Given the description of an element on the screen output the (x, y) to click on. 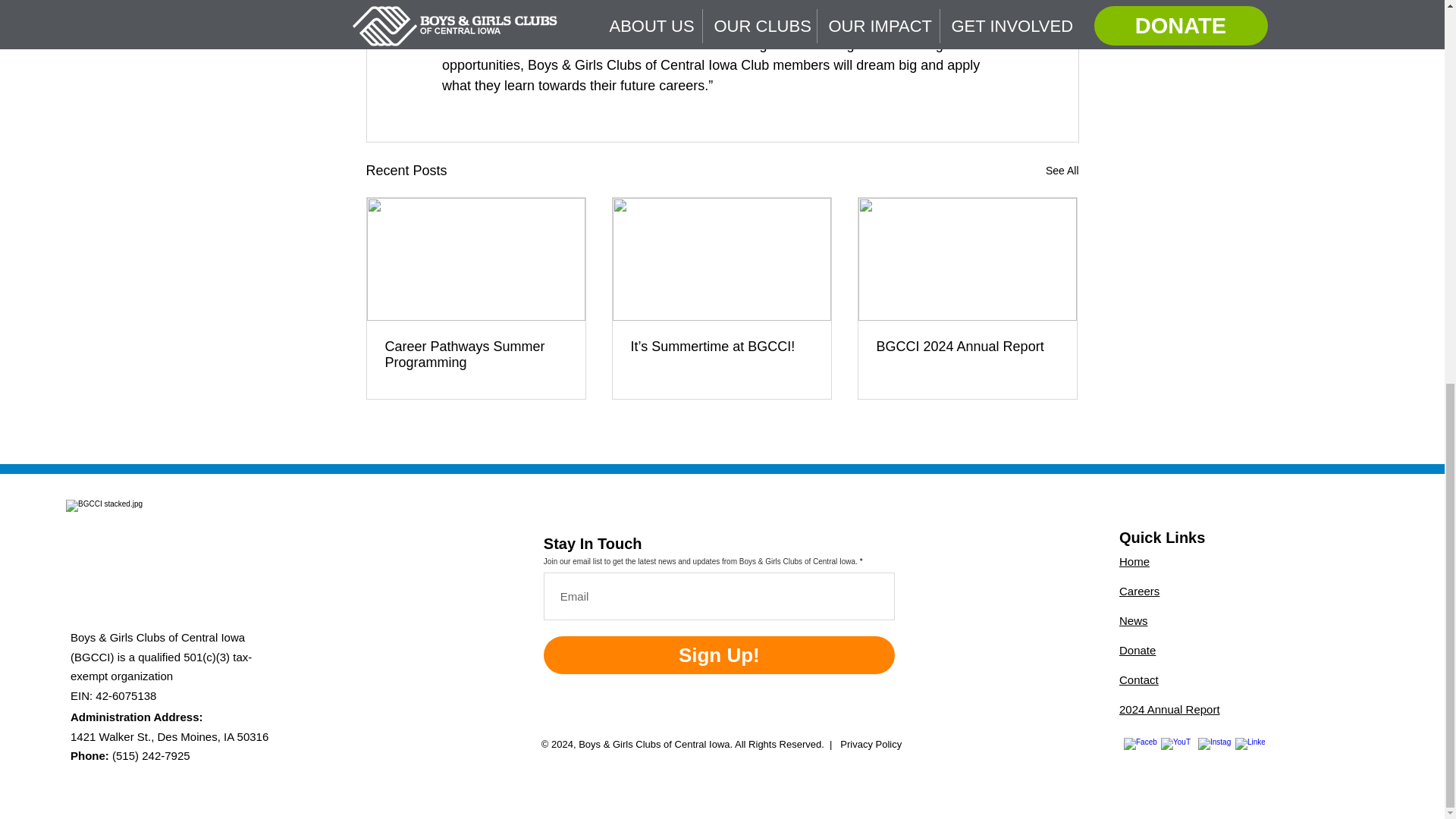
See All (1061, 170)
Career Pathways Summer Programming (476, 355)
2024 Annual Report (1169, 708)
Contact (1138, 679)
News (1133, 620)
Sign Up! (719, 655)
Donate (1137, 649)
BGCCI 2024 Annual Report (967, 346)
Home (1134, 561)
Careers (1138, 590)
